Given the description of an element on the screen output the (x, y) to click on. 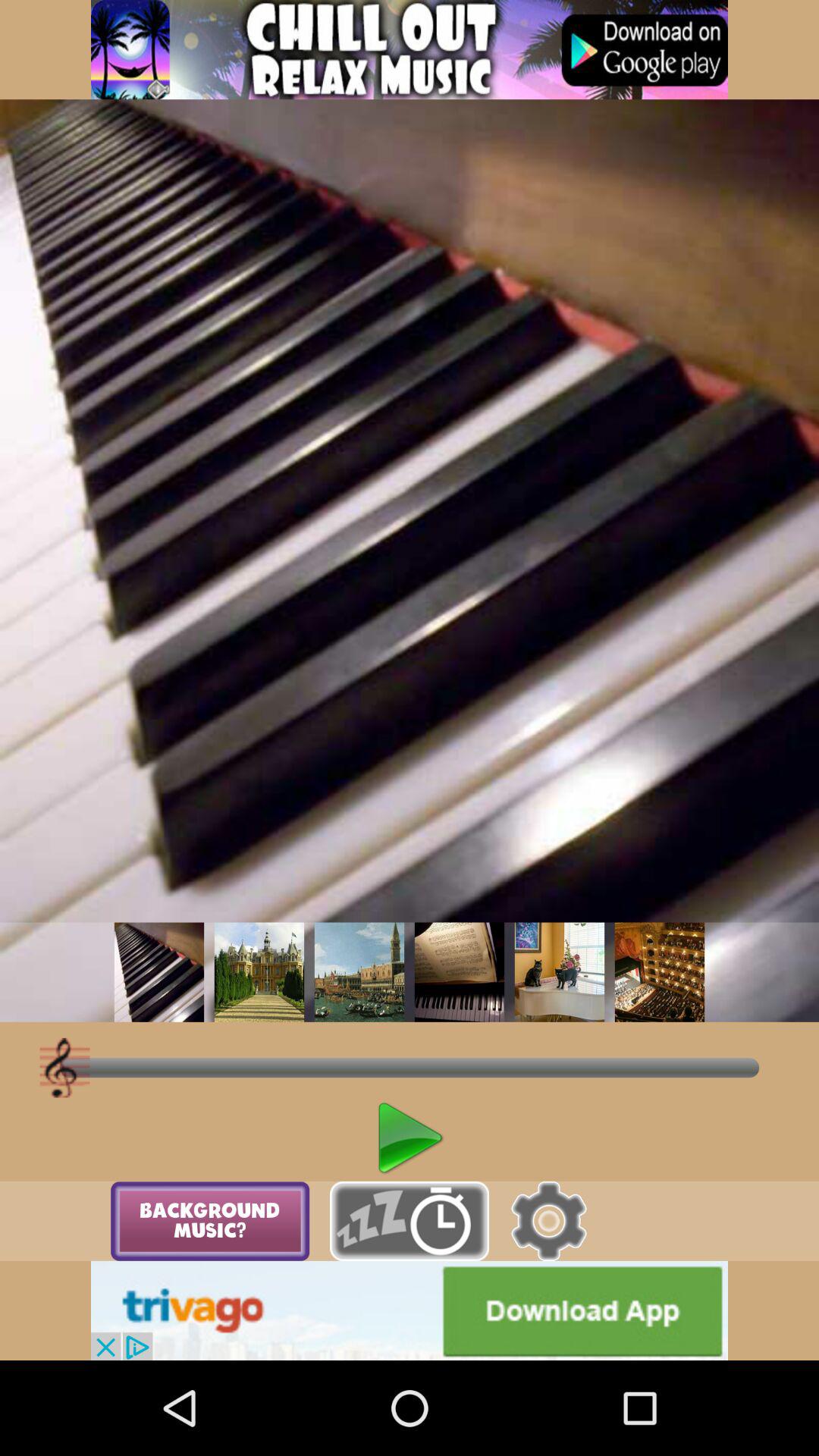
alarm option (409, 1220)
